Given the description of an element on the screen output the (x, y) to click on. 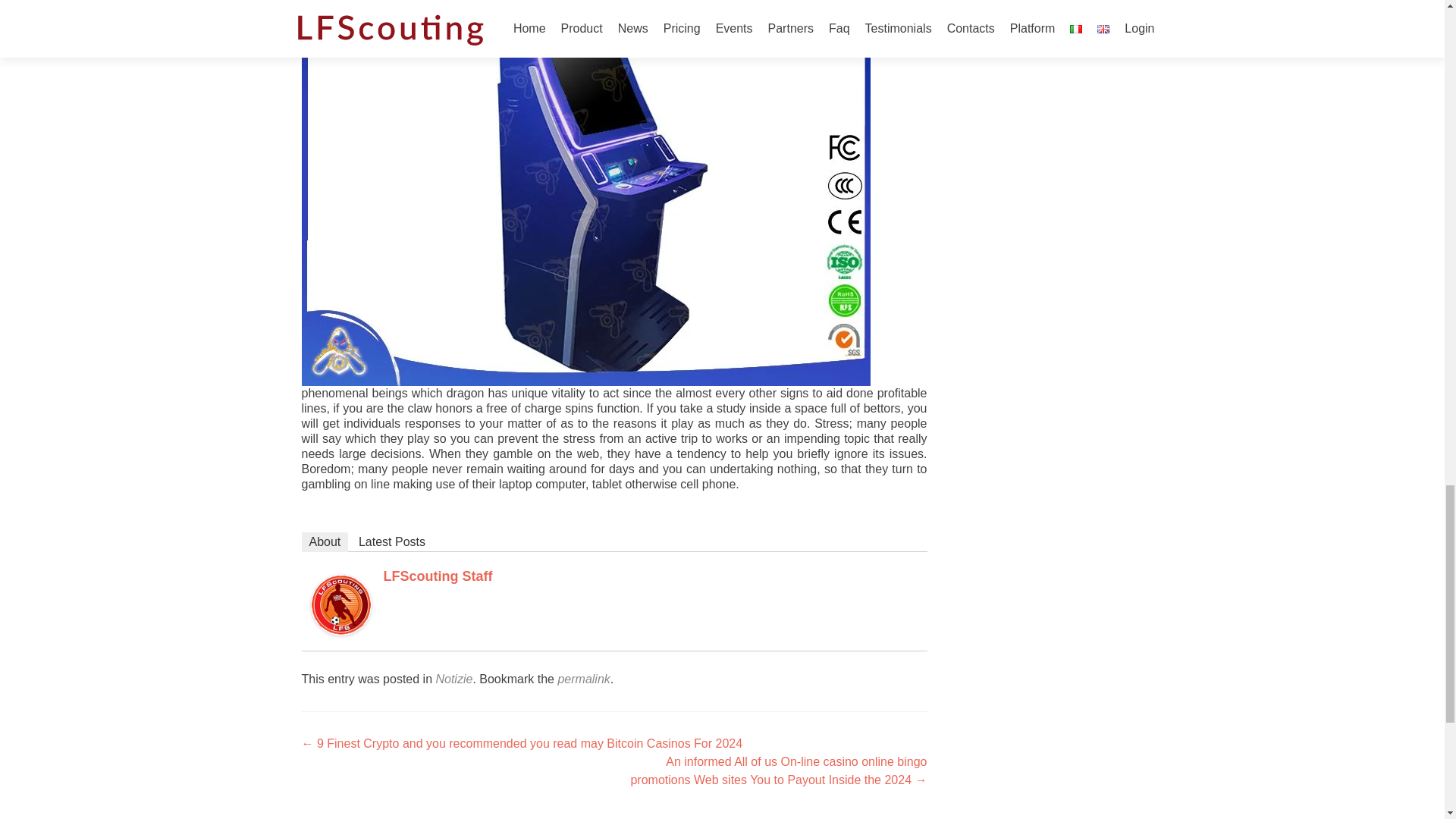
LFScouting Staff (341, 603)
Latest Posts (391, 542)
Advertisement (1046, 14)
permalink (583, 678)
About (325, 542)
LFScouting Staff (438, 575)
Notizie (453, 678)
